Given the description of an element on the screen output the (x, y) to click on. 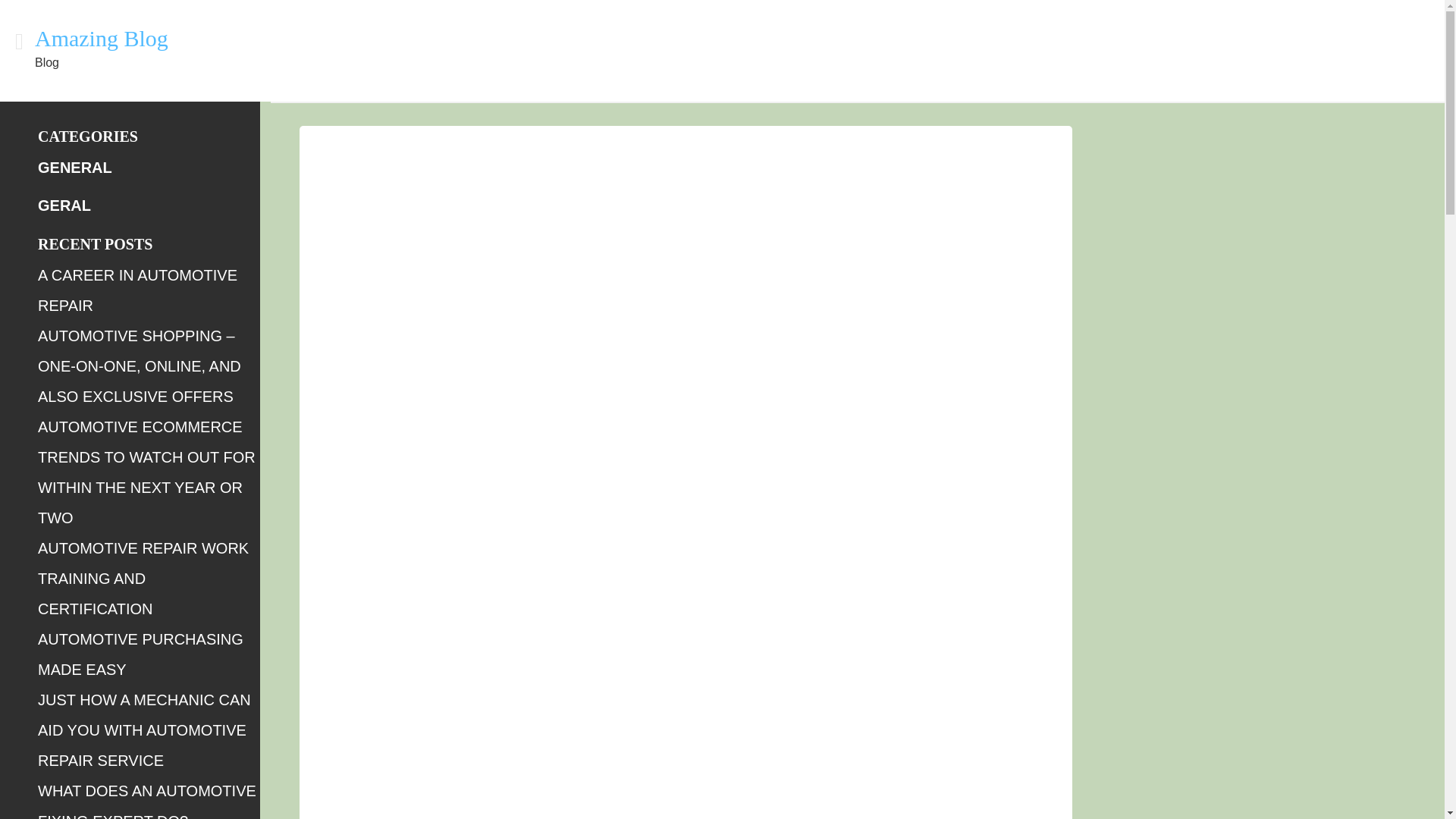
WHAT DOES AN AUTOMOTIVE FIXING EXPERT DO? (146, 800)
AUTOMOTIVE PURCHASING MADE EASY (140, 654)
GERAL (63, 205)
A CAREER IN AUTOMOTIVE REPAIR (137, 289)
Amazing Blog (101, 37)
AUTOMOTIVE REPAIR WORK TRAINING AND CERTIFICATION (142, 578)
GENERAL (74, 167)
